Given the description of an element on the screen output the (x, y) to click on. 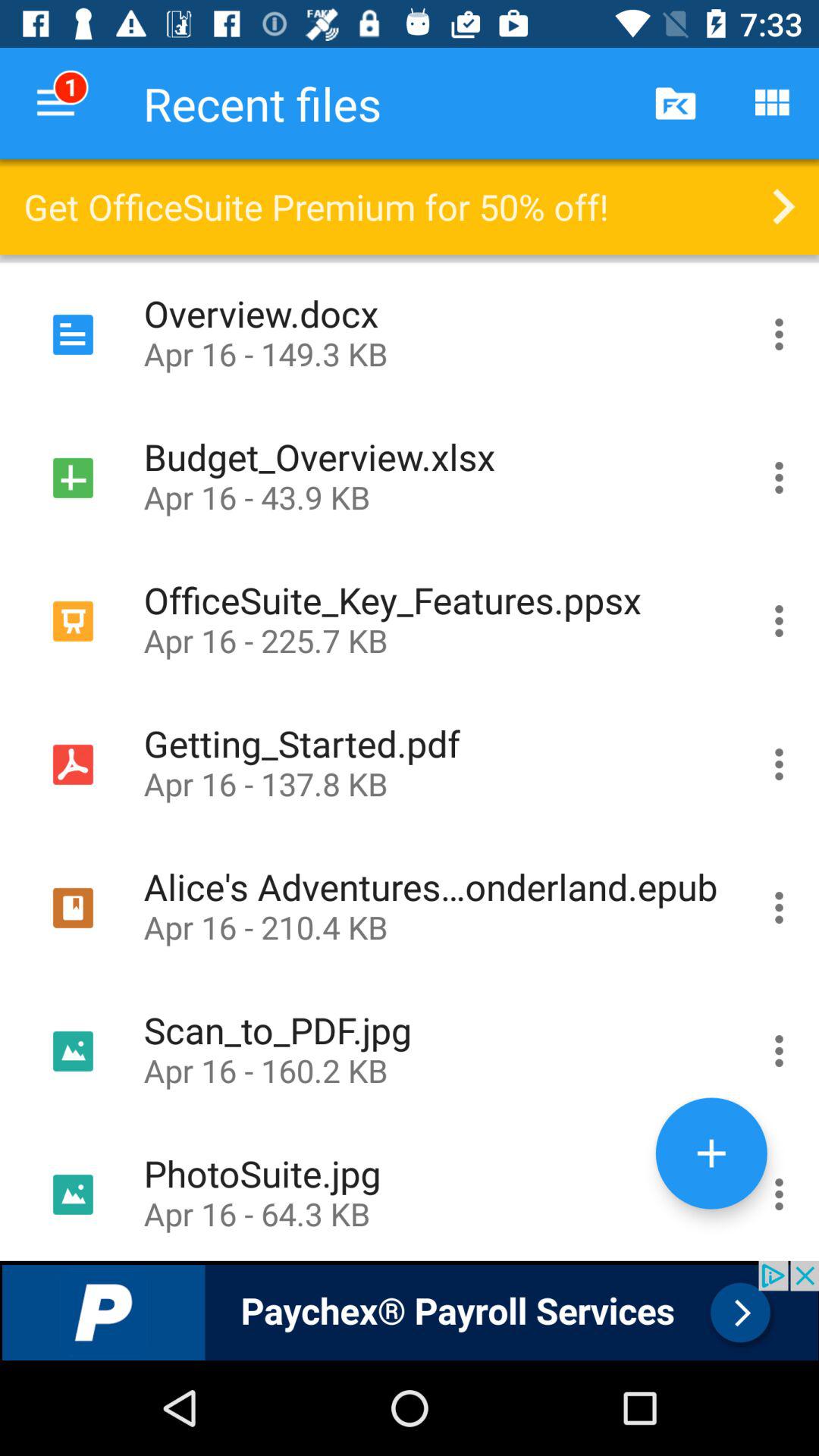
open more file option (779, 764)
